Given the description of an element on the screen output the (x, y) to click on. 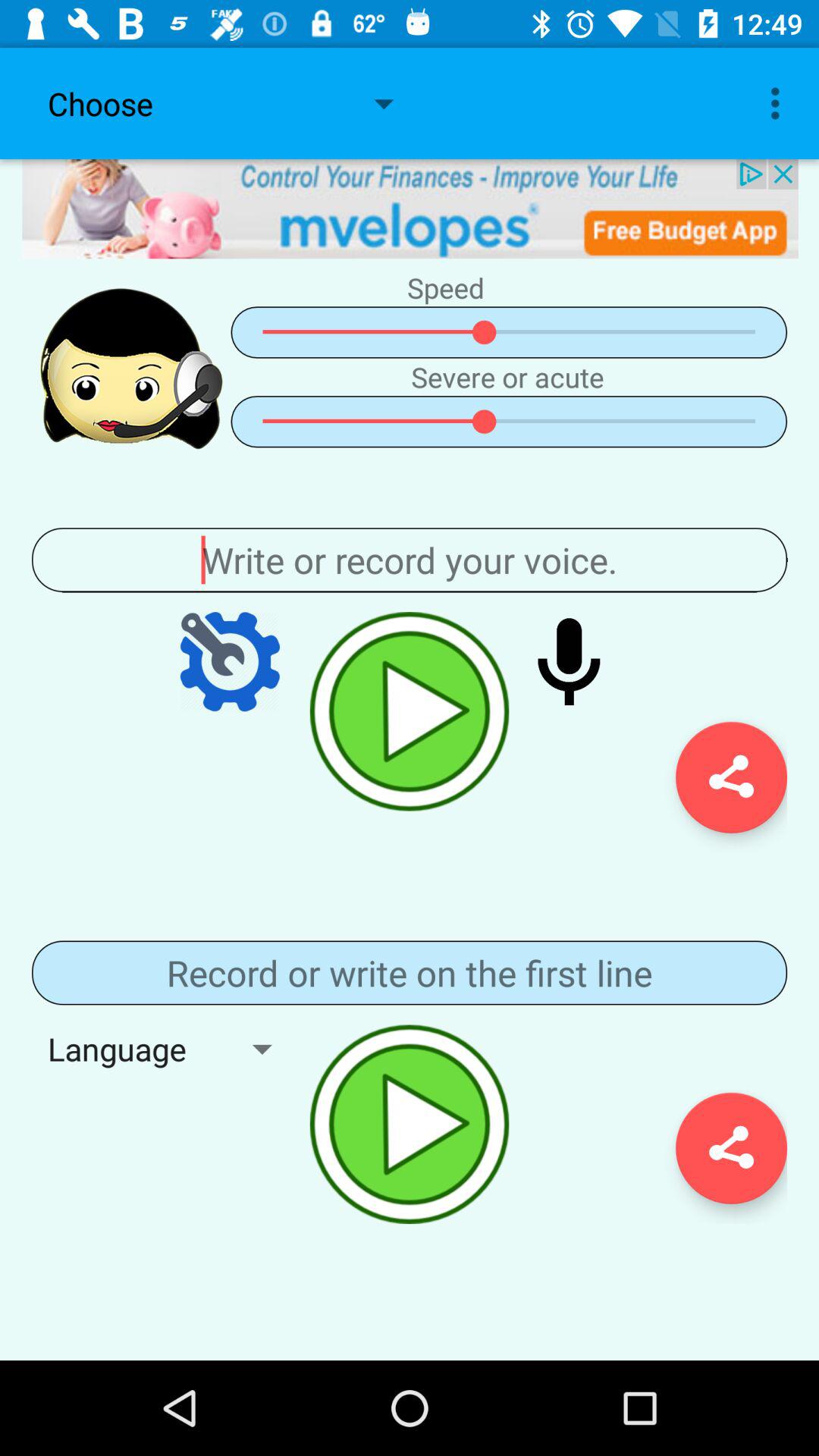
settings icon (731, 777)
